Given the description of an element on the screen output the (x, y) to click on. 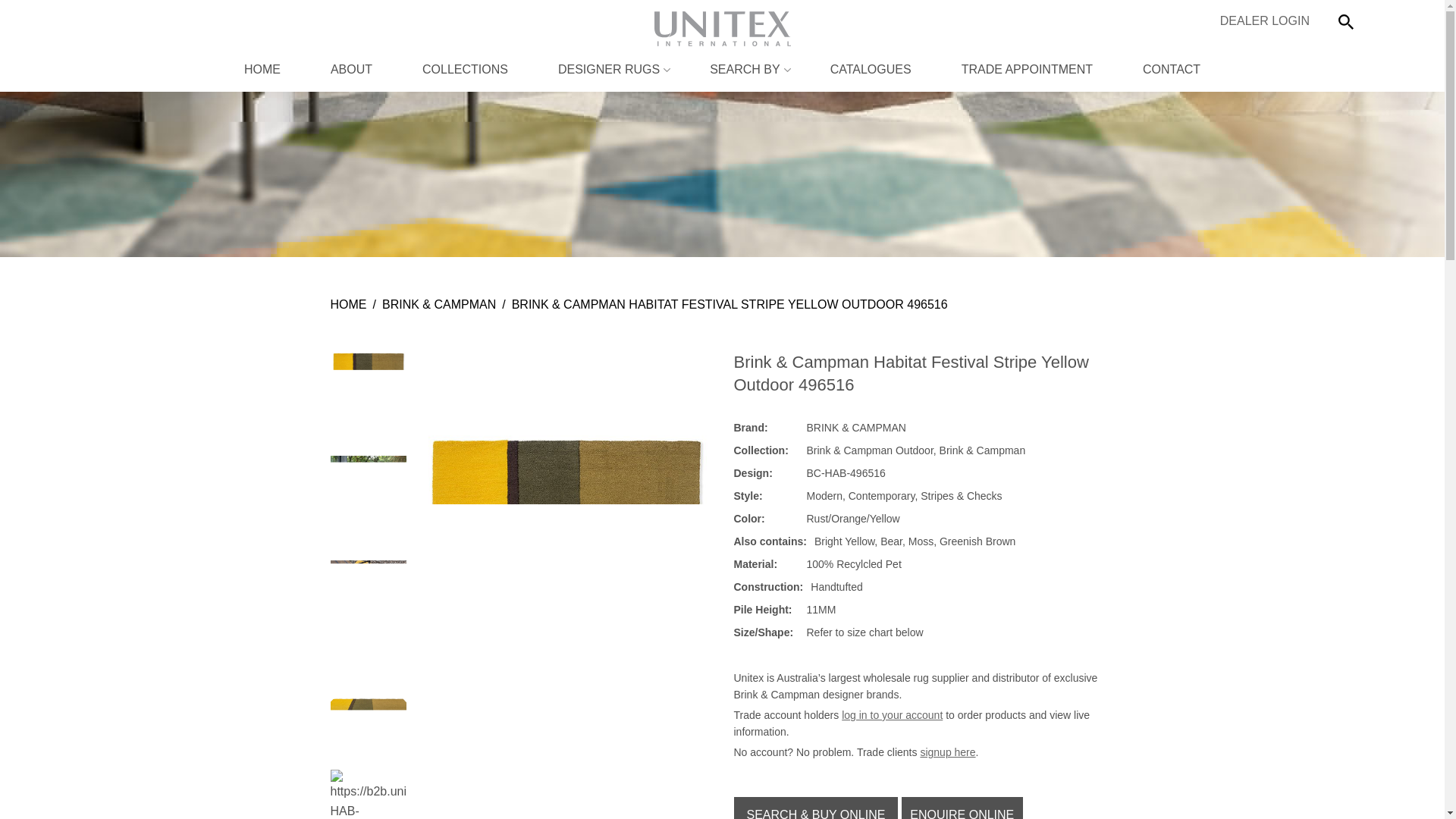
Home (262, 69)
SEARCH BY (744, 69)
Collections (464, 69)
DESIGNER RUGS (608, 69)
About (351, 69)
ABOUT (351, 69)
DEALER LOGIN (1264, 20)
HOME (262, 69)
Designer Rugs (608, 69)
COLLECTIONS (464, 69)
